Given the description of an element on the screen output the (x, y) to click on. 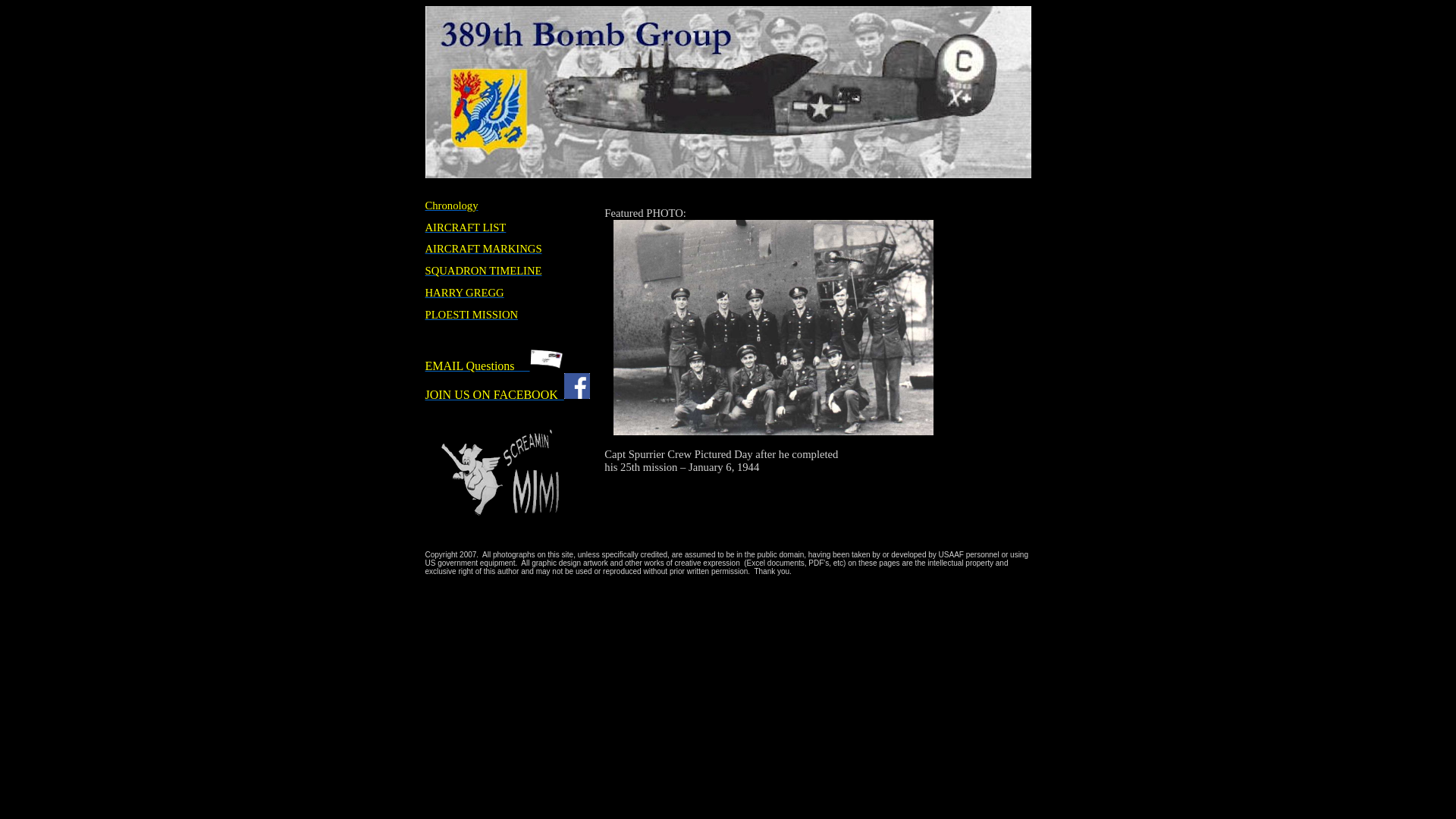
Chronology Element type: text (450, 205)
EMAIL Questions     Element type: text (495, 365)
AIRCRAFT LIST Element type: text (464, 227)
SQUADRON TIMELINE Element type: text (482, 270)
AIRCRAFT MARKINGS Element type: text (482, 248)
PLOESTI MISSION Element type: text (470, 314)
HARRY GREGG Element type: text (463, 292)
JOIN US ON FACEBOOK  Element type: text (506, 394)
